Given the description of an element on the screen output the (x, y) to click on. 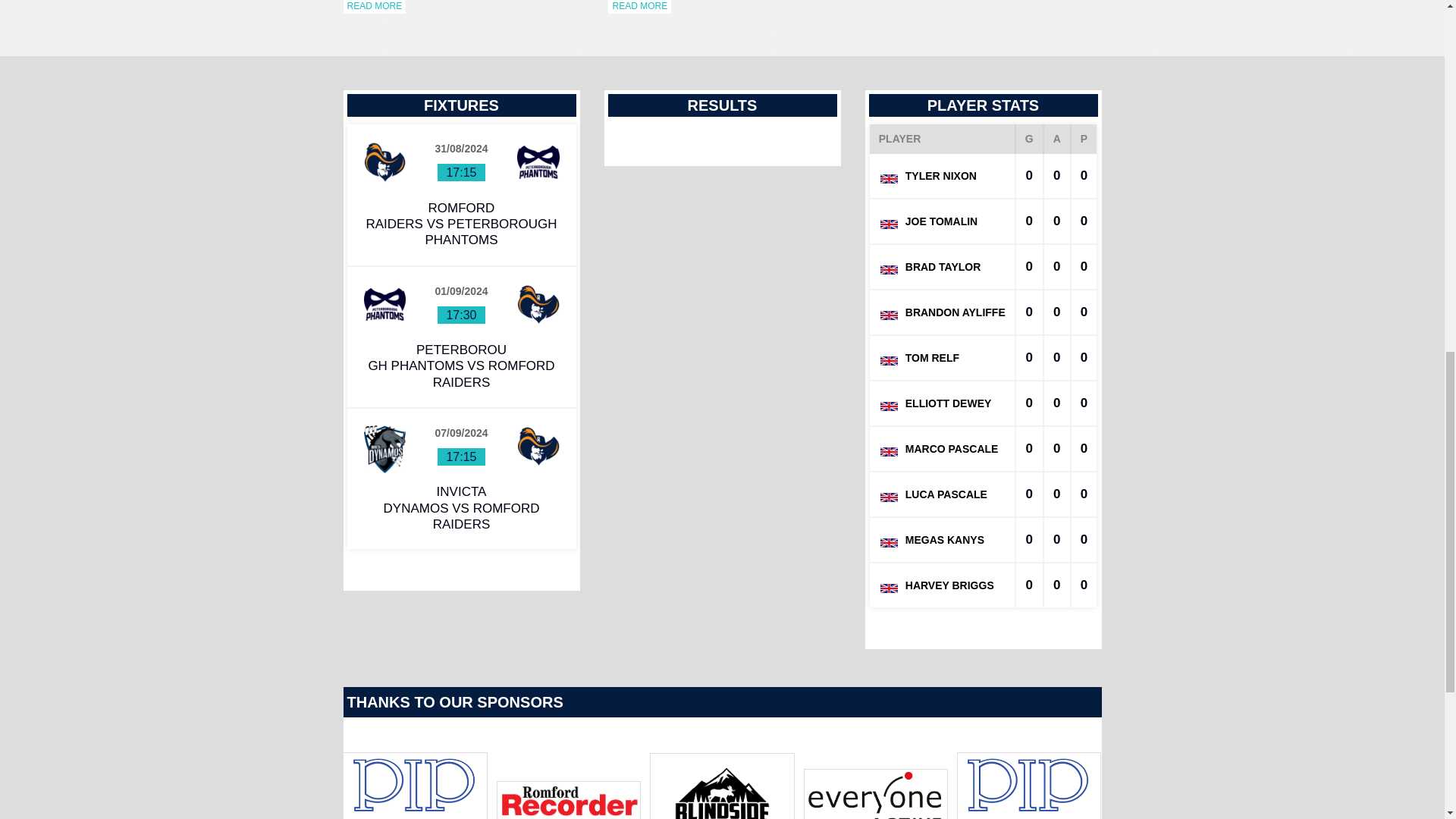
PETERBOROUGH PHANTOMS VS ROMFORD RAIDERS (461, 366)
READ MORE (374, 6)
READ MORE (639, 6)
17:30 (461, 314)
17:15 (461, 171)
ROMFORD RAIDERS VS PETERBOROUGH PHANTOMS (460, 224)
